Given the description of an element on the screen output the (x, y) to click on. 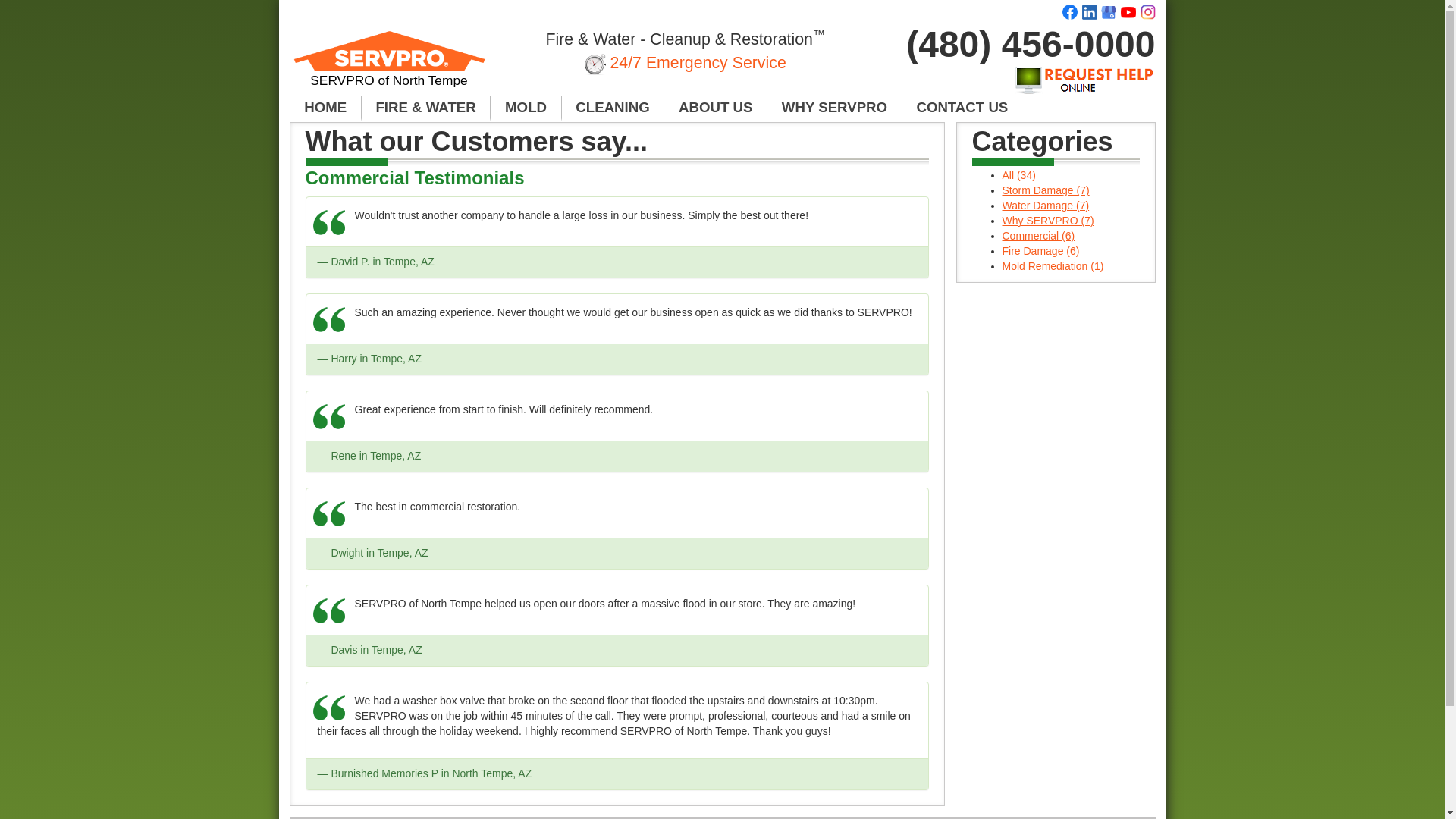
MOLD (525, 108)
SERVPRO of North Tempe (389, 65)
ABOUT US (715, 108)
CLEANING (613, 108)
HOME (325, 108)
